Given the description of an element on the screen output the (x, y) to click on. 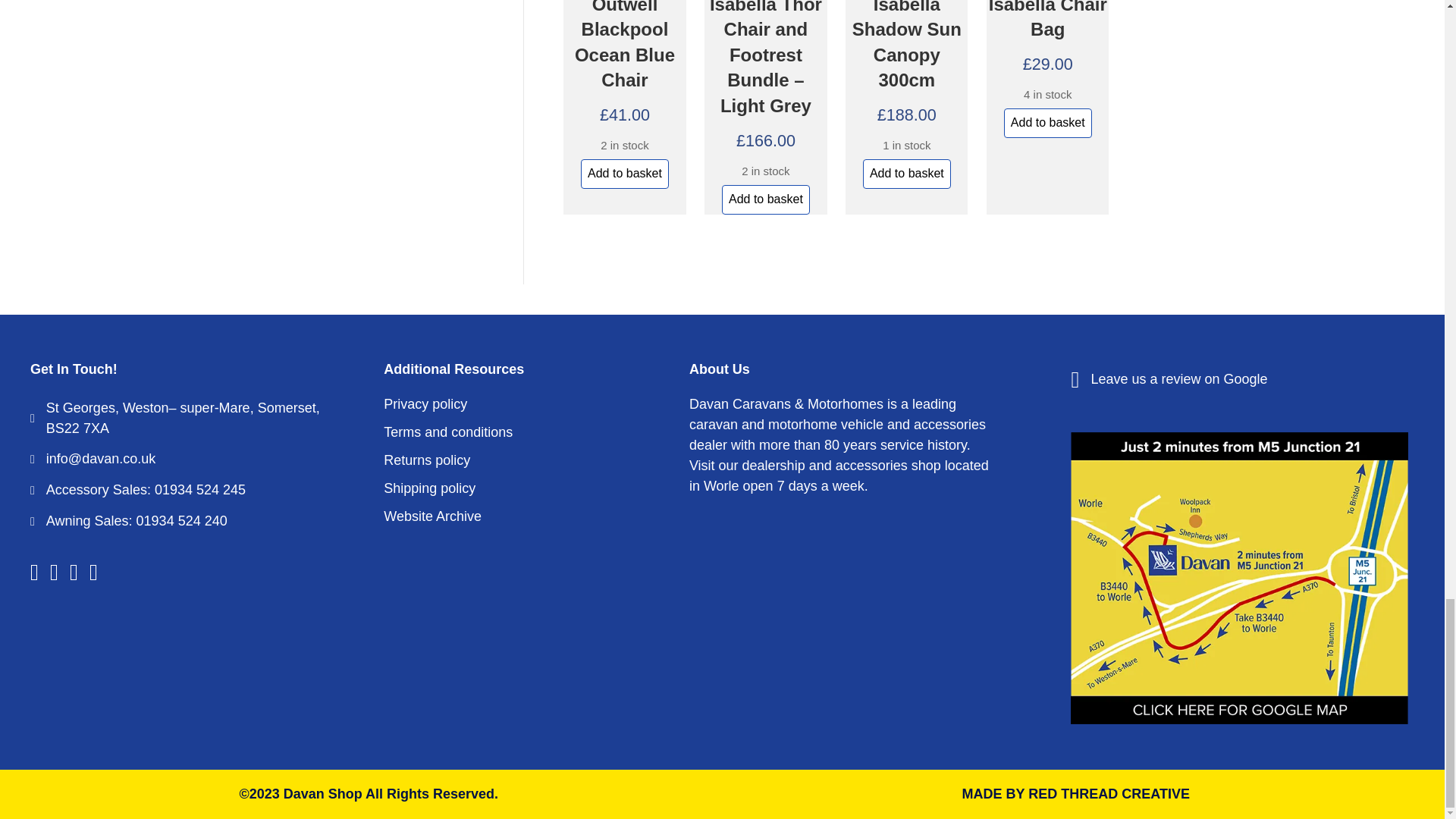
Davan-Route-Map-3 (1238, 577)
MADE BY RED THREAD CREATIVE (1075, 793)
